Given the description of an element on the screen output the (x, y) to click on. 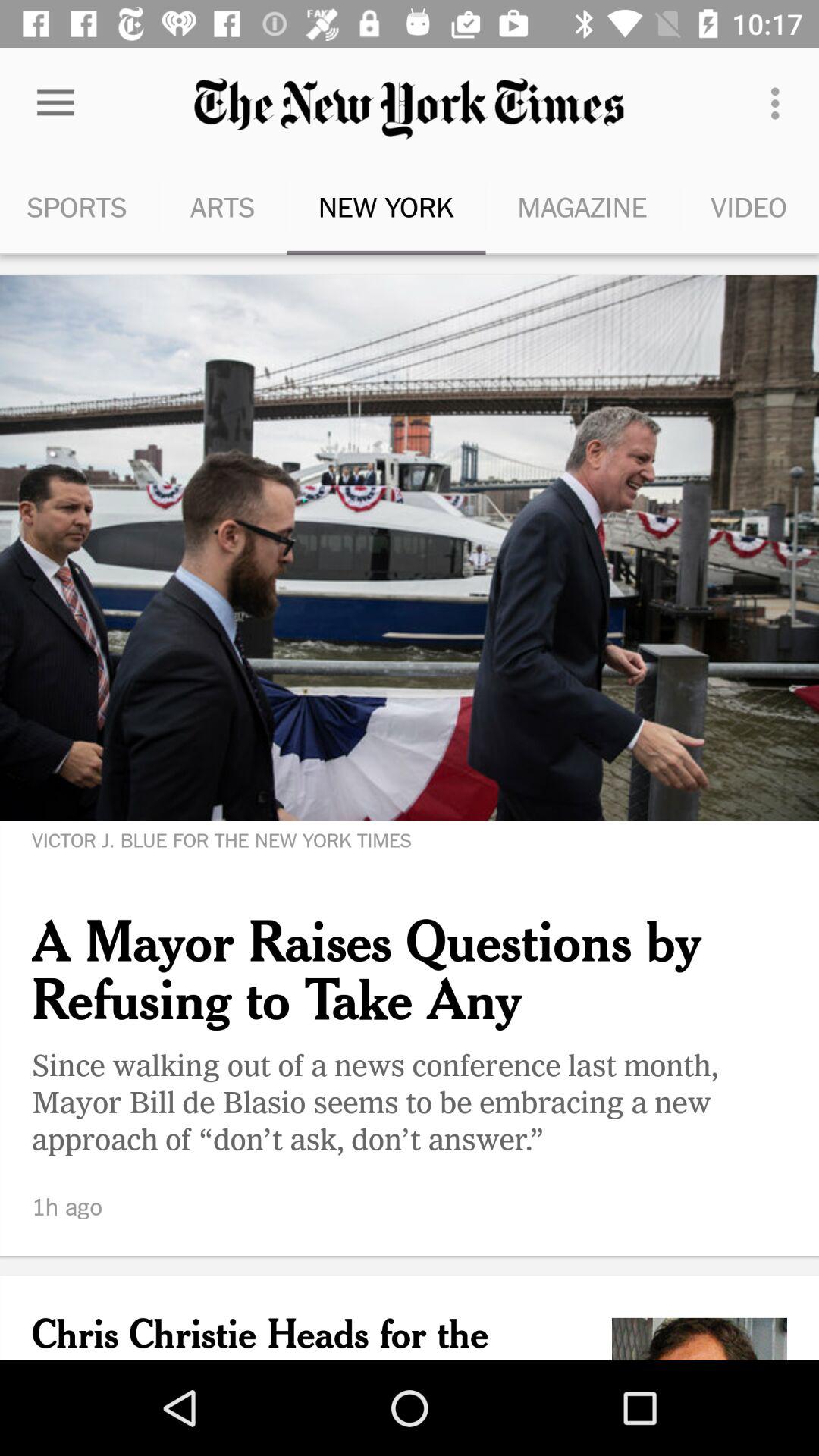
swipe to magazine icon (582, 206)
